Given the description of an element on the screen output the (x, y) to click on. 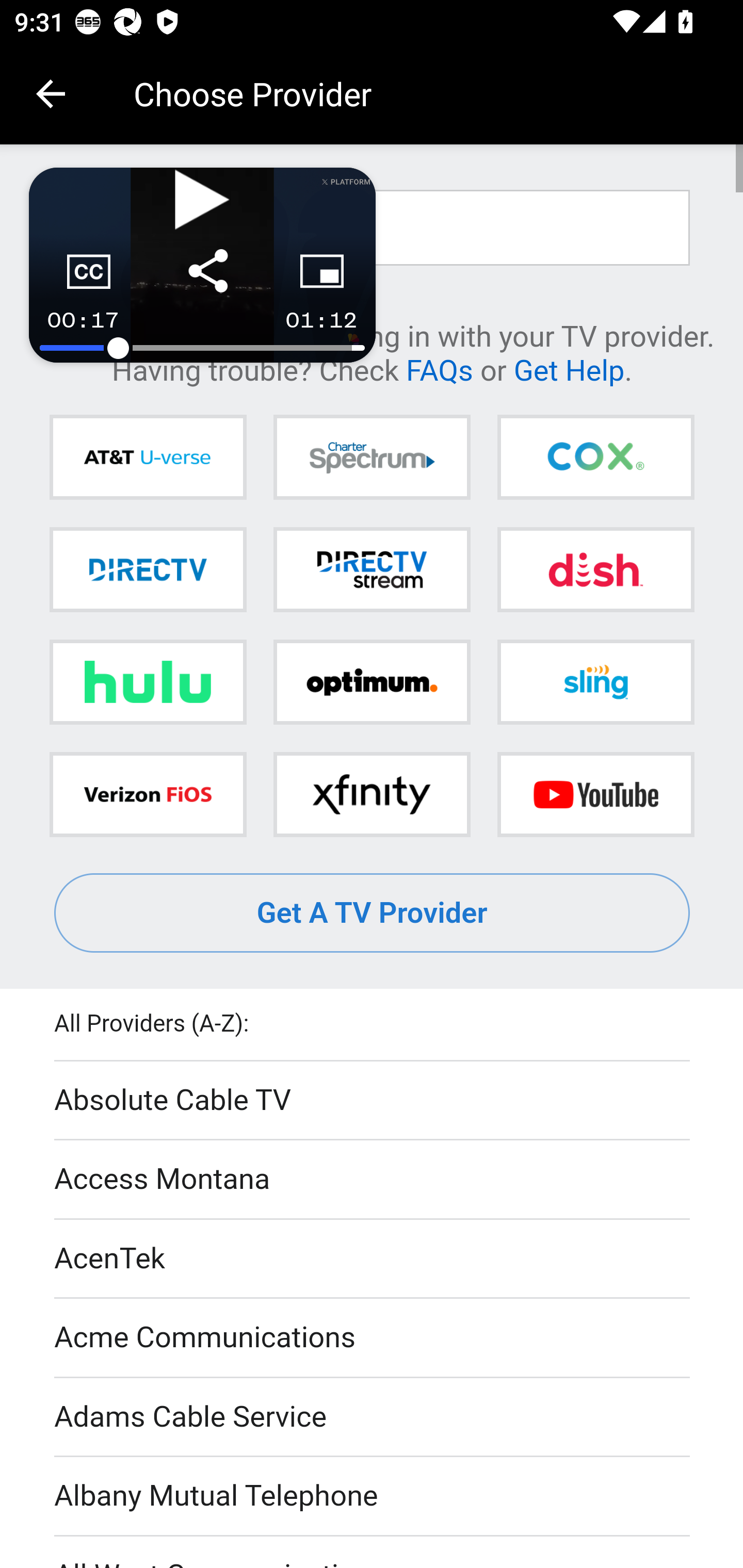
Navigate up (50, 93)
FAQs (438, 369)
Get Help (569, 369)
AT&T U-verse (147, 457)
Charter Spectrum (371, 457)
Cox (595, 457)
DIRECTV (147, 568)
DIRECTV STREAM (371, 568)
DISH (595, 568)
Hulu (147, 681)
Optimum (371, 681)
Sling TV (595, 681)
Verizon FiOS (147, 793)
Xfinity (371, 793)
YouTube TV (595, 793)
Get A TV Provider (372, 912)
Absolute Cable TV (372, 1100)
Access Montana (372, 1178)
AcenTek (372, 1258)
Acme Communications (372, 1338)
Adams Cable Service (372, 1417)
Albany Mutual Telephone (372, 1497)
